Given the description of an element on the screen output the (x, y) to click on. 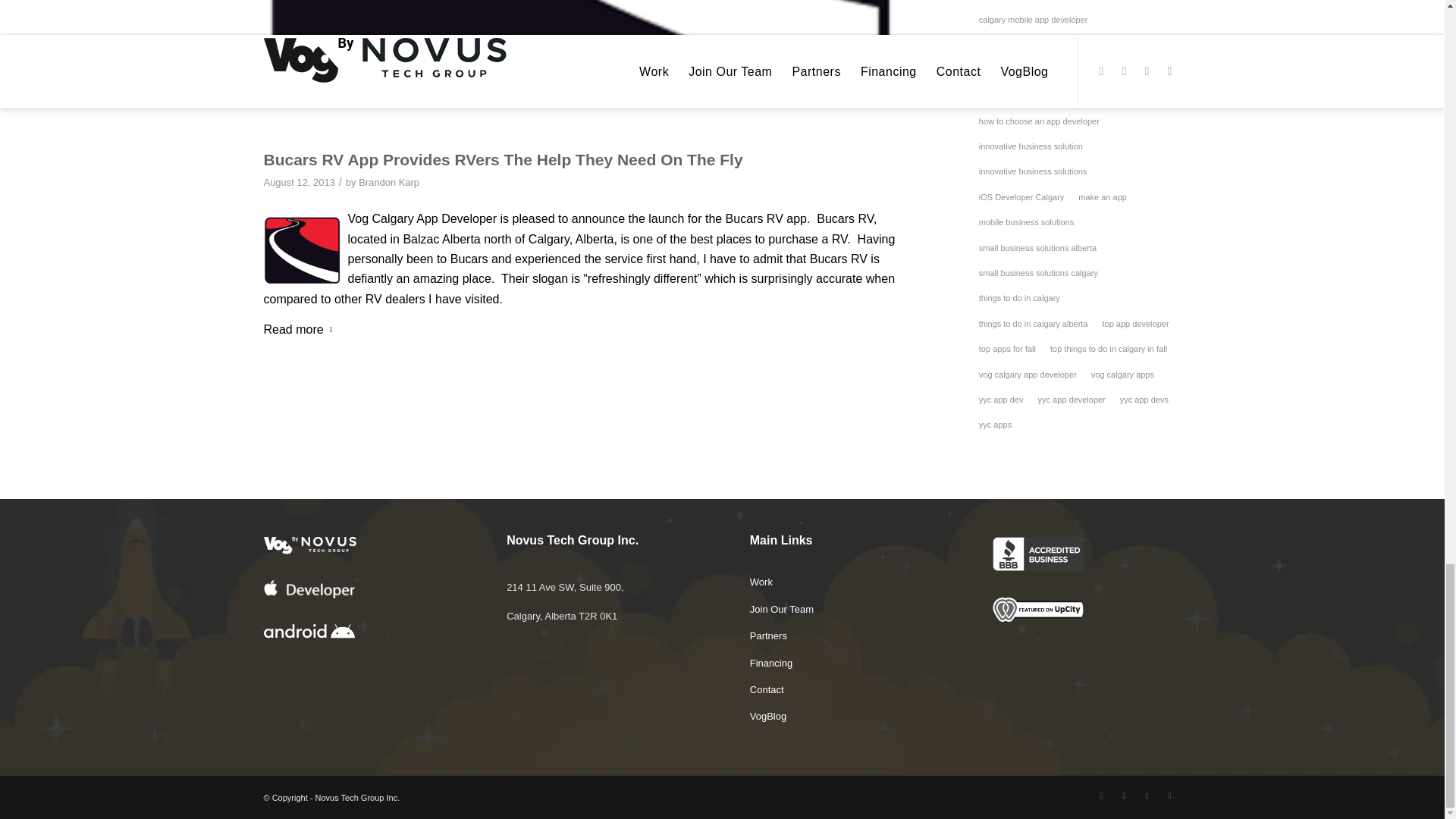
Bucars RV App - Vog Calgary App Developer (579, 70)
Bucars RV App Provides RVers The Help They Need On The Fly (502, 159)
Read more (301, 330)
Brandon Karp (388, 182)
Posts by Brandon Karp (388, 182)
